Given the description of an element on the screen output the (x, y) to click on. 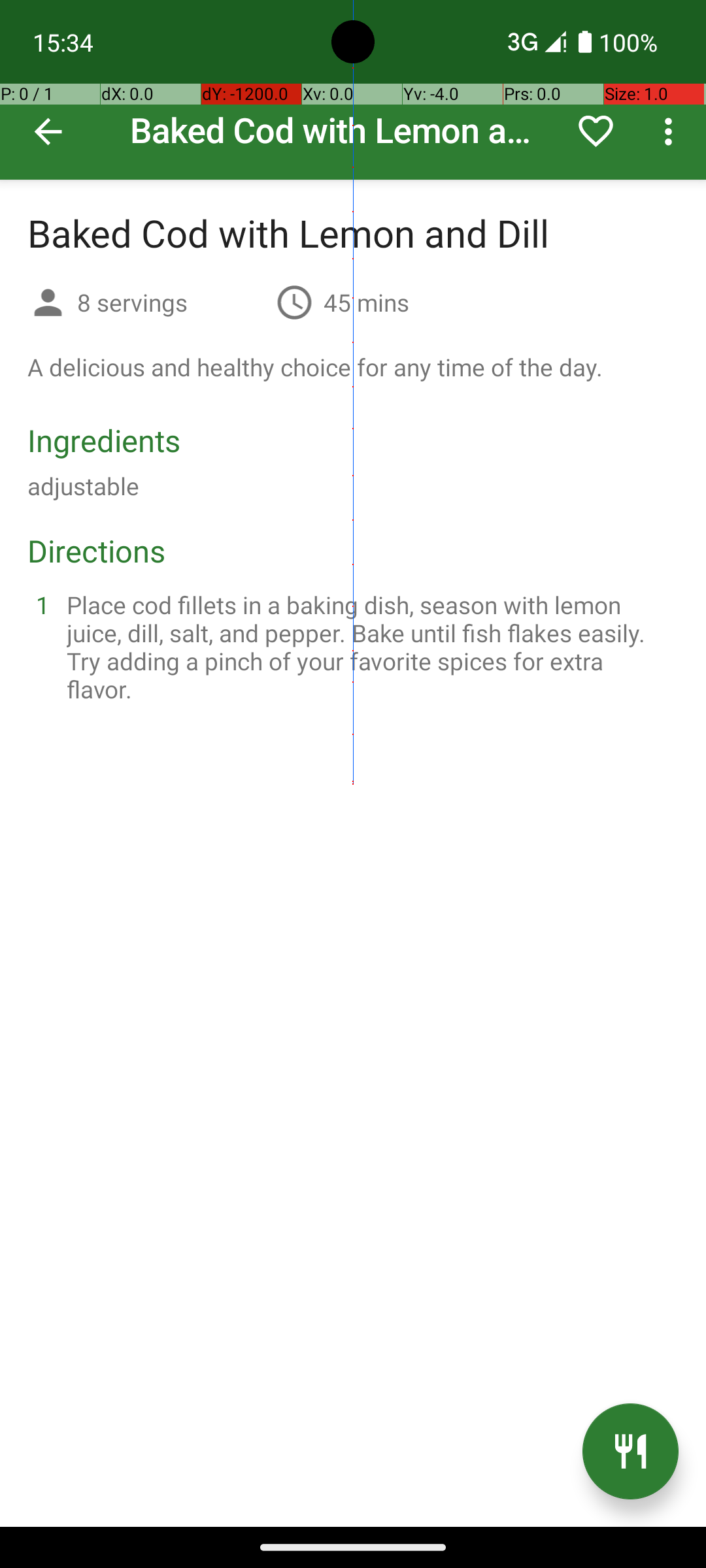
adjustable Element type: android.widget.TextView (83, 485)
Place cod fillets in a baking dish, season with lemon juice, dill, salt, and pepper. Bake until fish flakes easily. Try adding a pinch of your favorite spices for extra flavor. Element type: android.widget.TextView (368, 646)
